Given the description of an element on the screen output the (x, y) to click on. 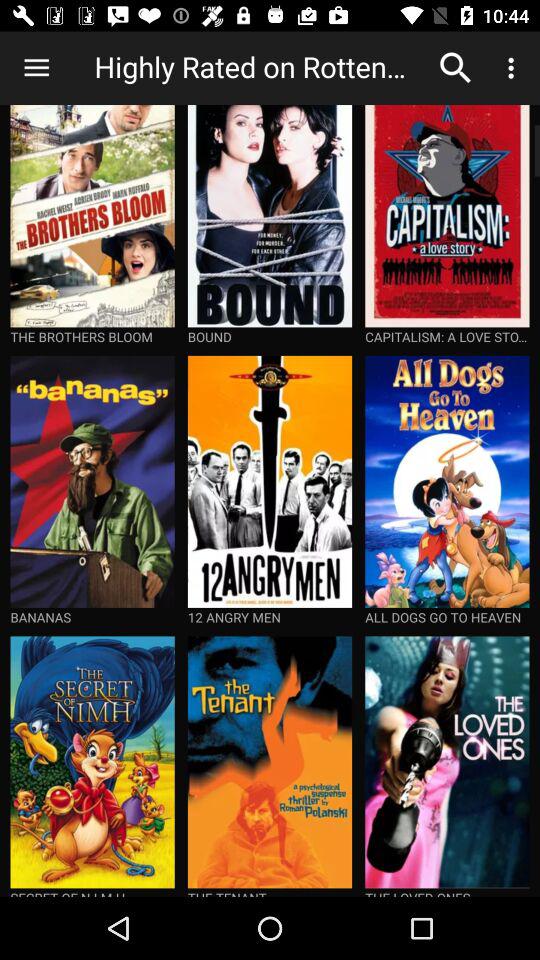
click icon next to the highly rated on item (36, 68)
